Given the description of an element on the screen output the (x, y) to click on. 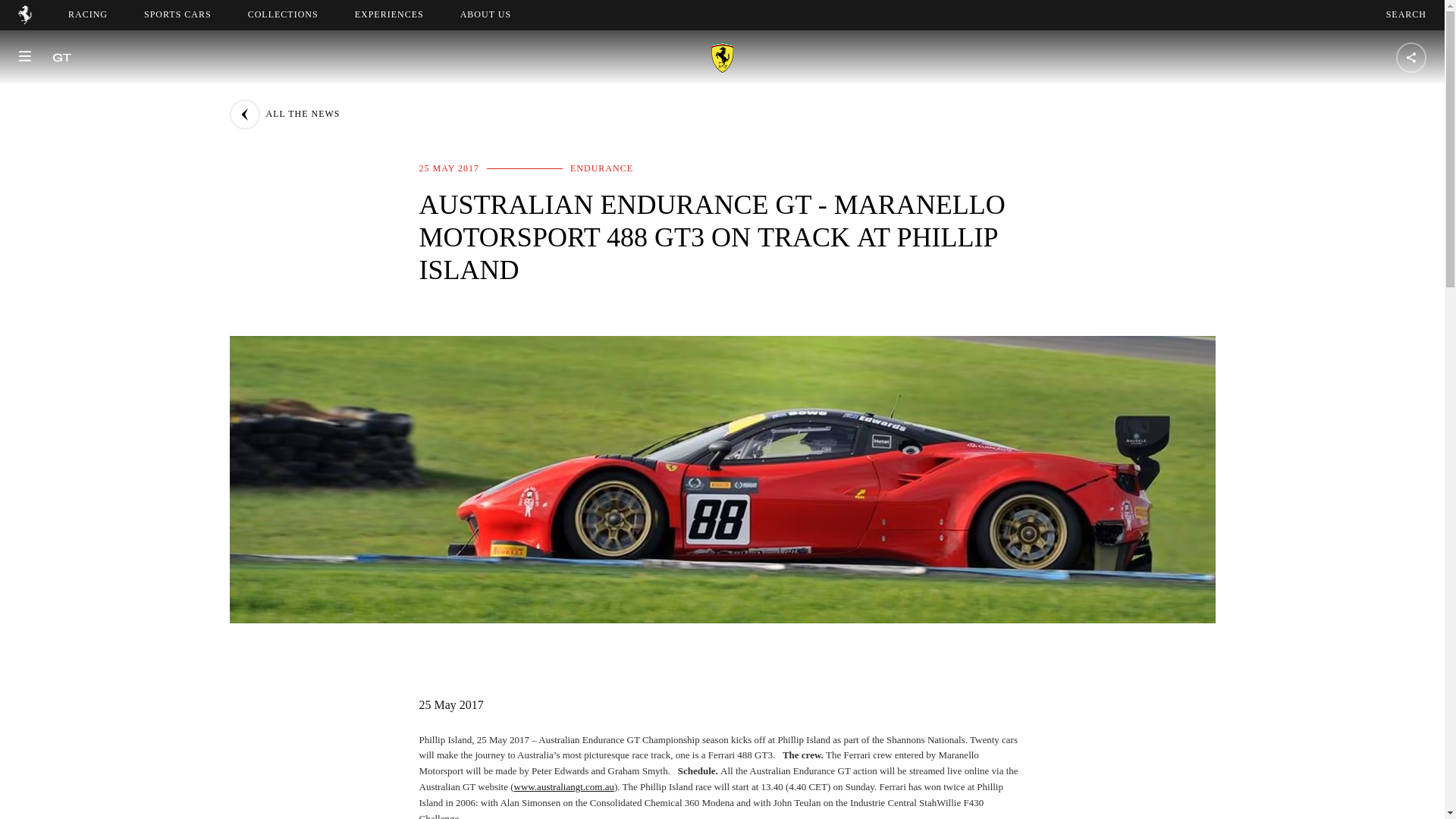
RACING (87, 14)
Ferrari logo (24, 19)
ALL THE NEWS (283, 114)
EXPERIENCES (389, 14)
SPORTS CARS (177, 14)
www.australiangt.com.au (563, 786)
SEARCH (499, 14)
COLLECTIONS (1406, 14)
ABOUT US (282, 14)
